Given the description of an element on the screen output the (x, y) to click on. 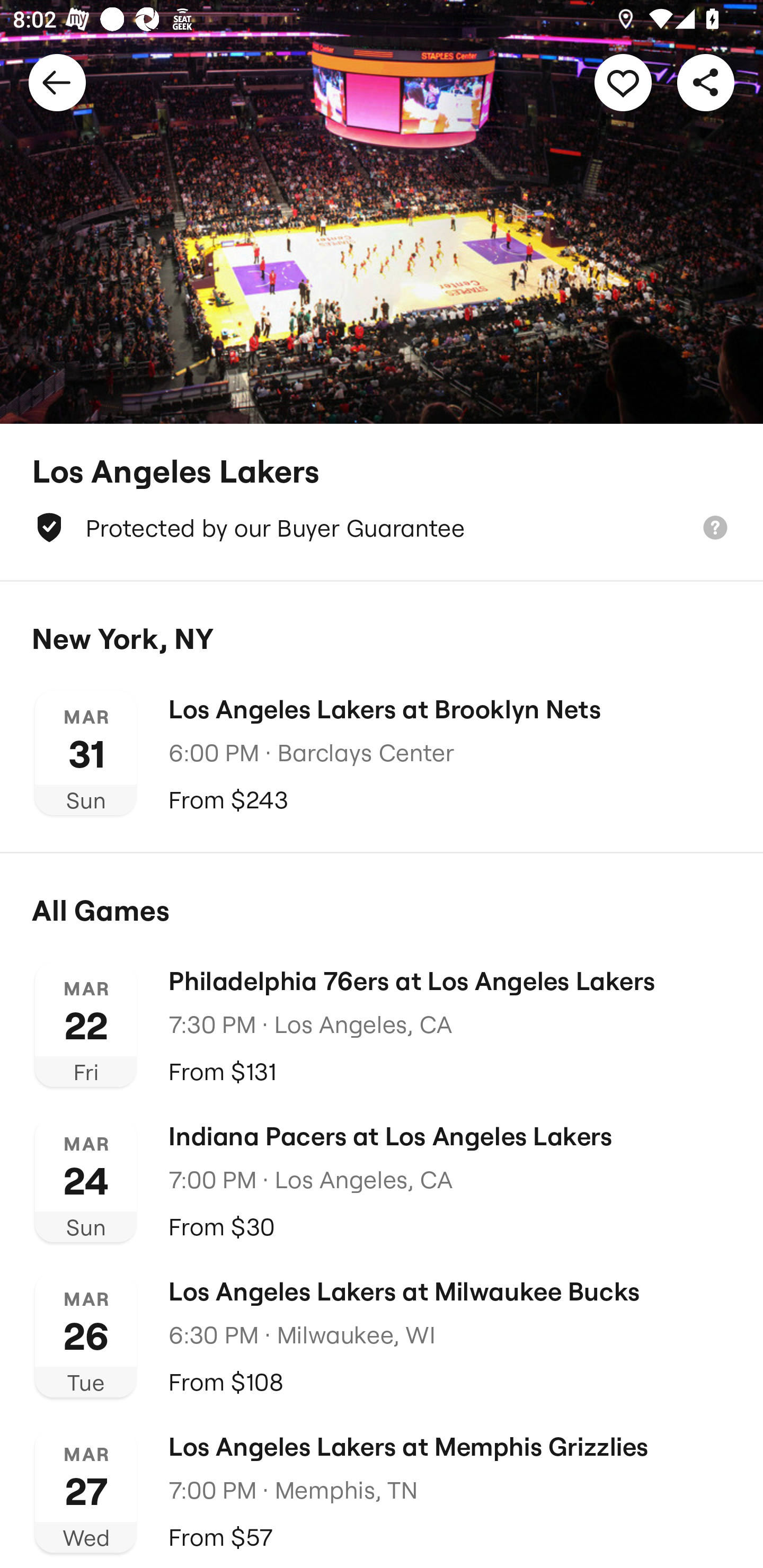
Back (57, 81)
Track this performer (623, 81)
Share this performer (705, 81)
Protected by our Buyer Guarantee Learn more (381, 527)
